Given the description of an element on the screen output the (x, y) to click on. 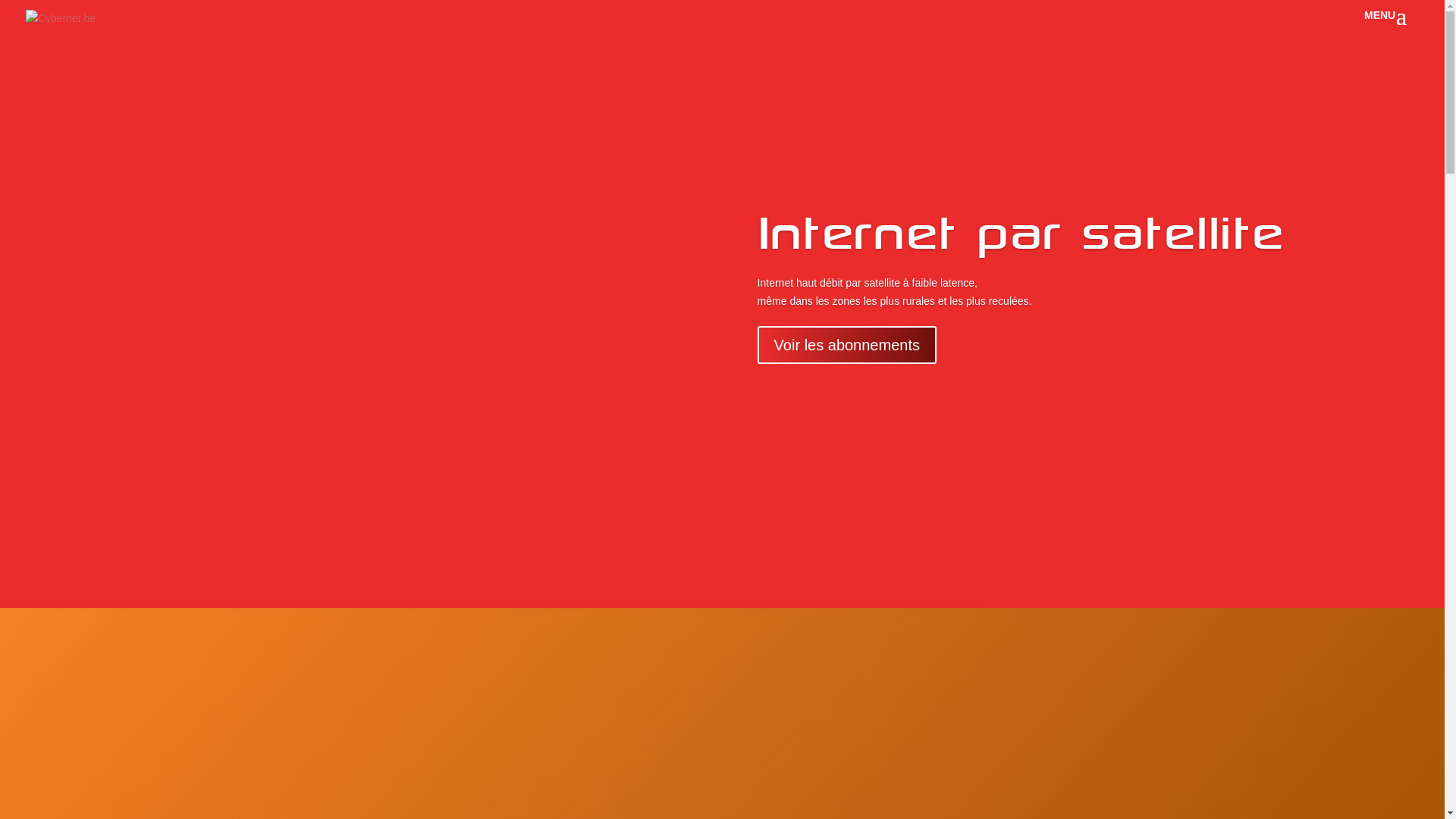
Voir les abonnements Element type: text (846, 345)
Internet par satellite Element type: text (1020, 234)
